Given the description of an element on the screen output the (x, y) to click on. 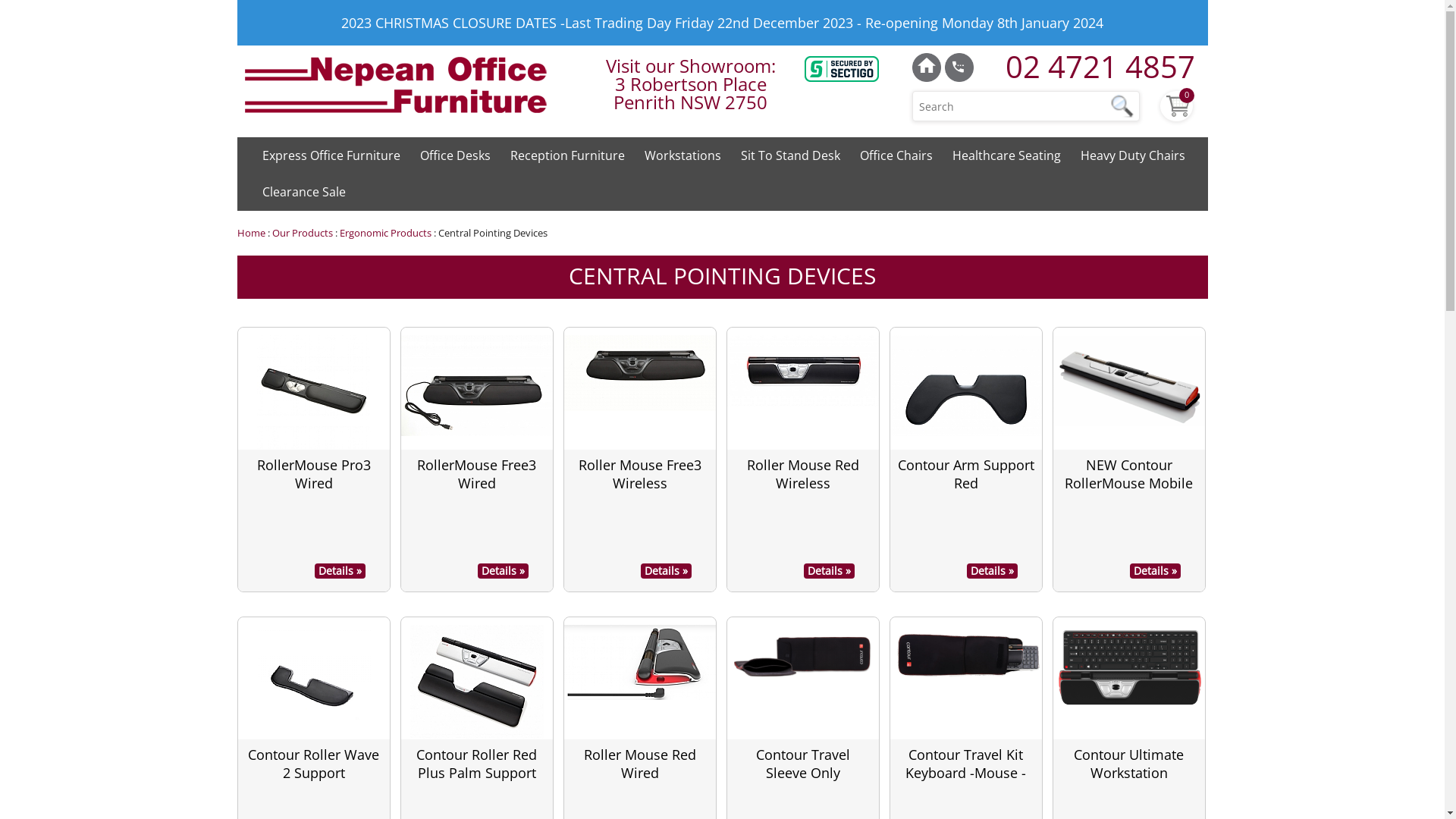
Ergonomic Products Element type: text (385, 232)
Clearance Sale Element type: text (302, 191)
Sit To Stand Desk Element type: text (790, 155)
Express Office Furniture Element type: text (330, 155)
0 Element type: text (1178, 104)
Workstations Element type: text (681, 155)
Office Desks Element type: text (454, 155)
Office Chairs Element type: text (895, 155)
Our Products Element type: text (301, 232)
Home Element type: text (250, 232)
Heavy Duty Chairs Element type: text (1132, 155)
Visit our Showroom:
3 Robertson Place
Penrith NSW 2750 Element type: text (690, 83)
Reception Furniture Element type: text (567, 155)
Healthcare Seating Element type: text (1005, 155)
